Given the description of an element on the screen output the (x, y) to click on. 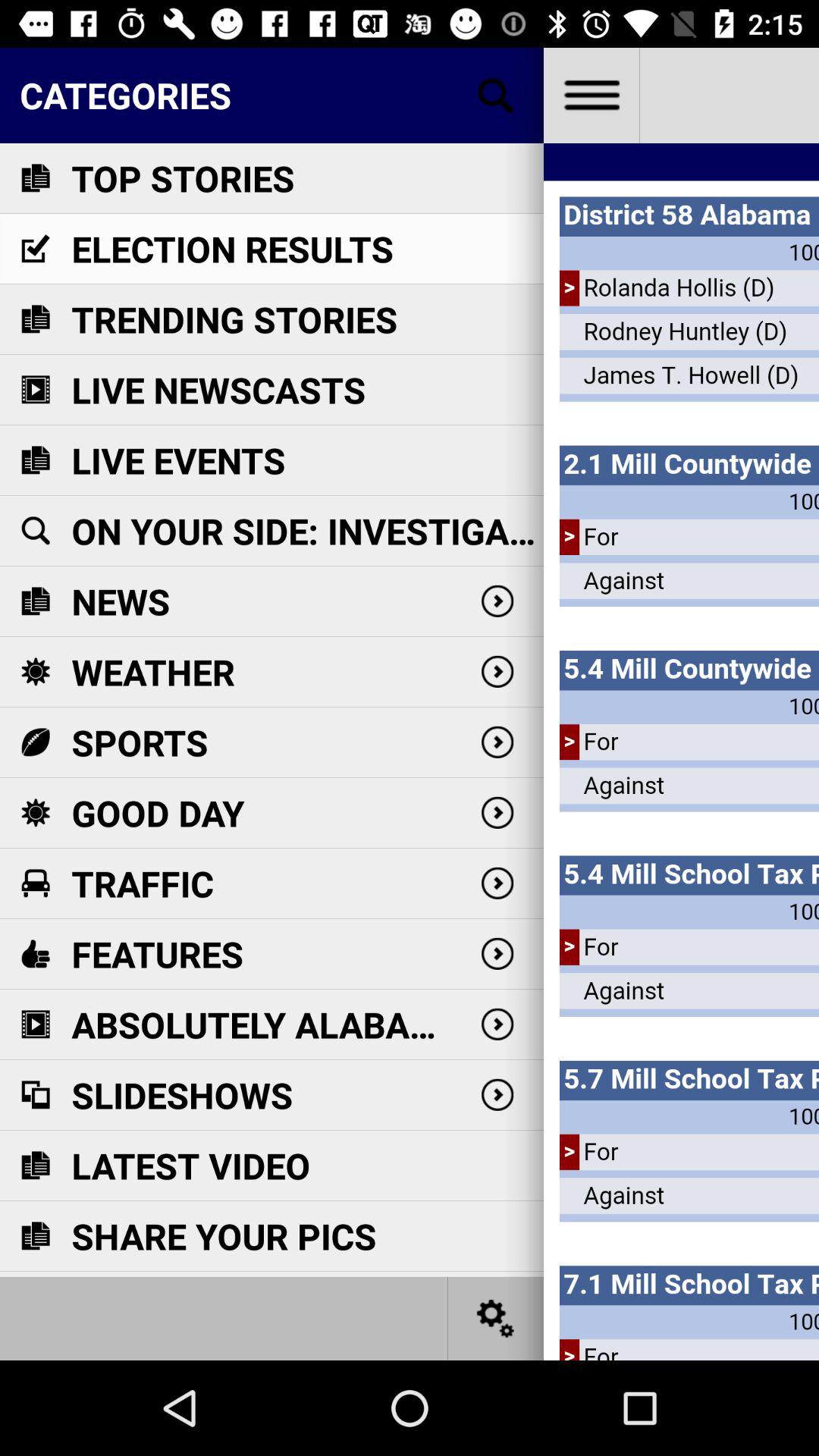
opens settings page (495, 1318)
